Given the description of an element on the screen output the (x, y) to click on. 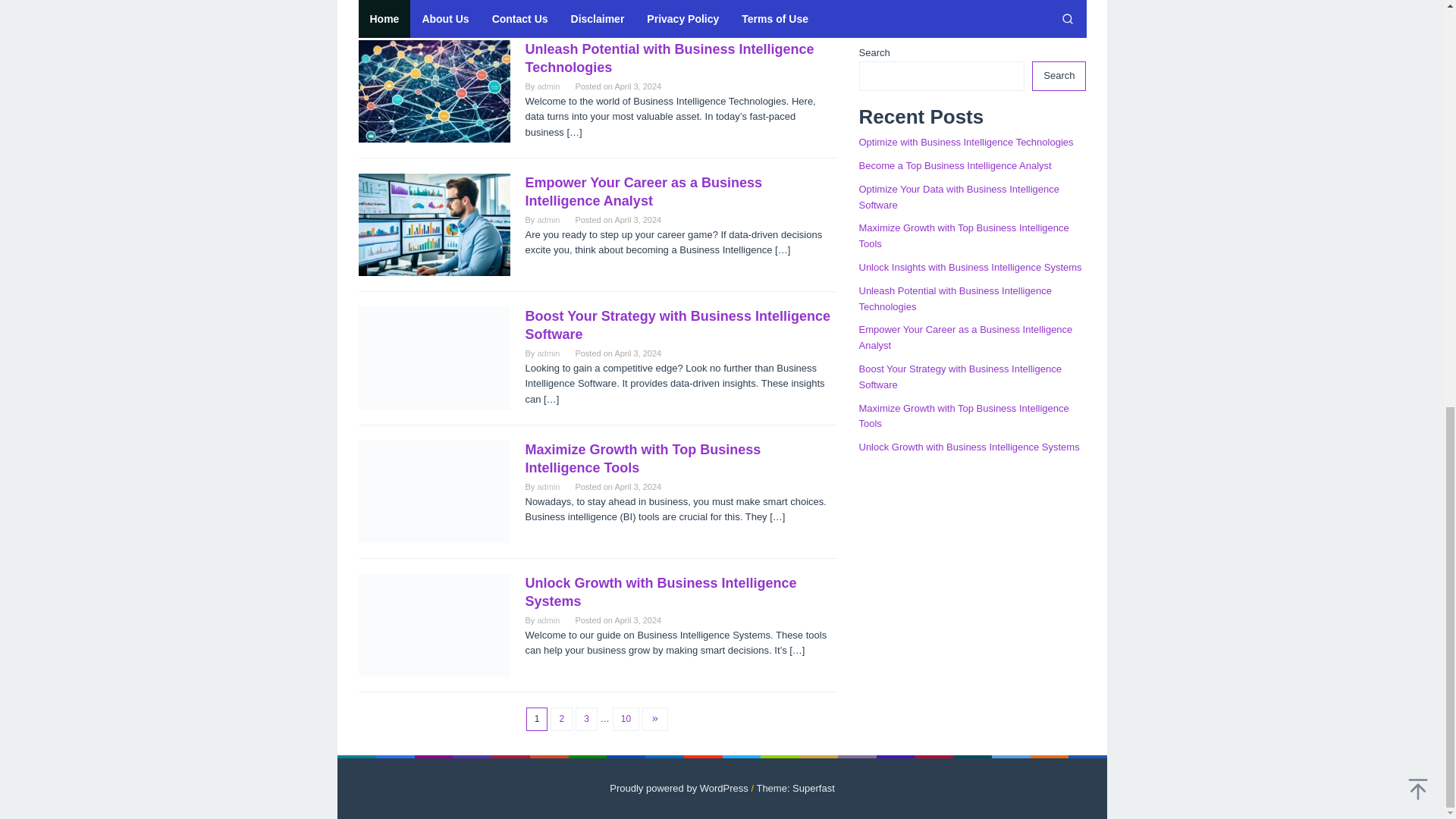
admin (548, 486)
admin (548, 85)
admin (548, 219)
Boost Your Strategy with Business Intelligence Software (676, 325)
Maximize Growth with Top Business Intelligence Tools (642, 458)
admin (548, 352)
Unlock Growth with Business Intelligence Systems (660, 592)
Empower Your Career as a Business Intelligence Analyst (642, 191)
Unleash Potential with Business Intelligence Technologies (668, 58)
